Given the description of an element on the screen output the (x, y) to click on. 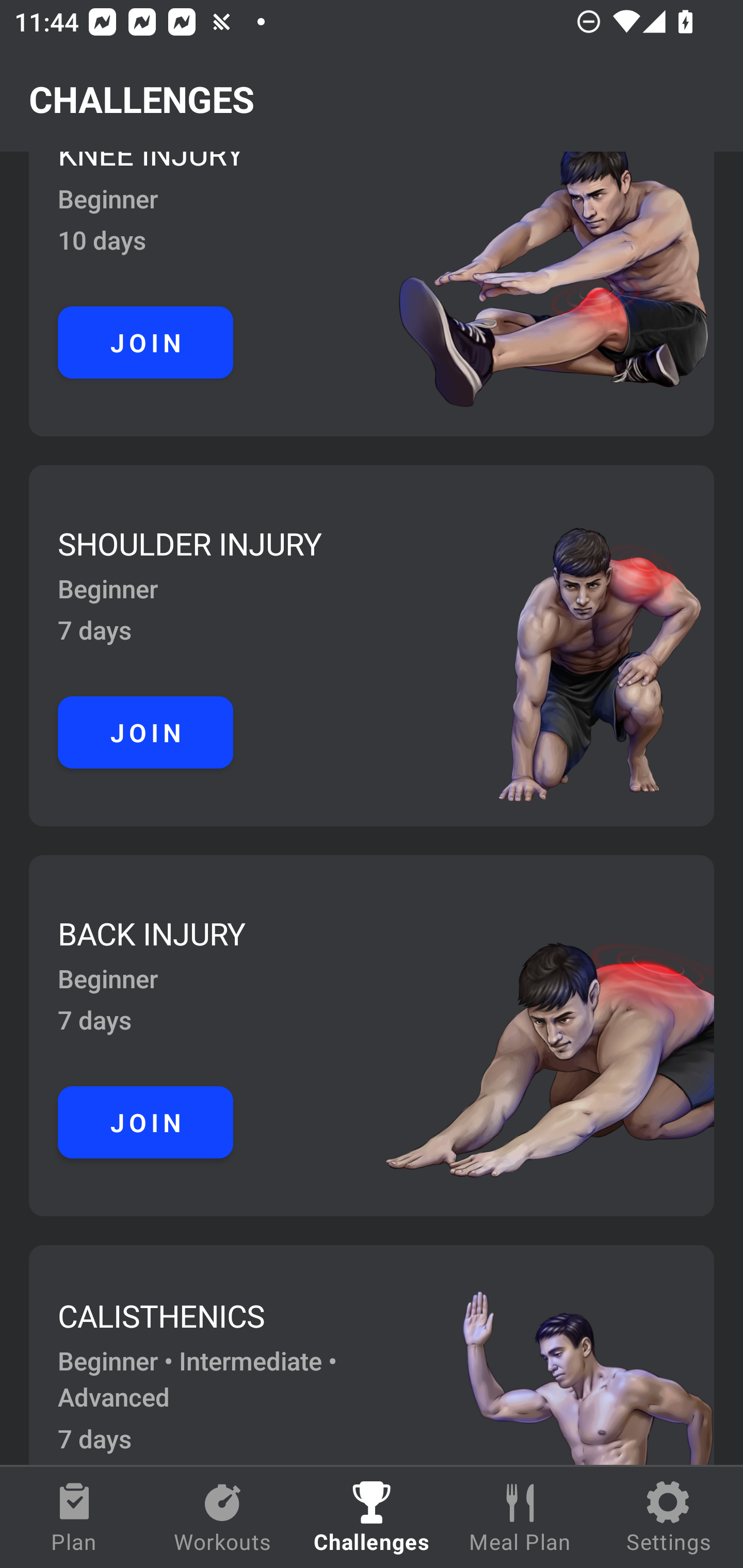
JOIN (145, 342)
JOIN (145, 732)
JOIN (145, 1121)
 Plan  (74, 1517)
 Workouts  (222, 1517)
 Meal Plan  (519, 1517)
 Settings  (668, 1517)
